Given the description of an element on the screen output the (x, y) to click on. 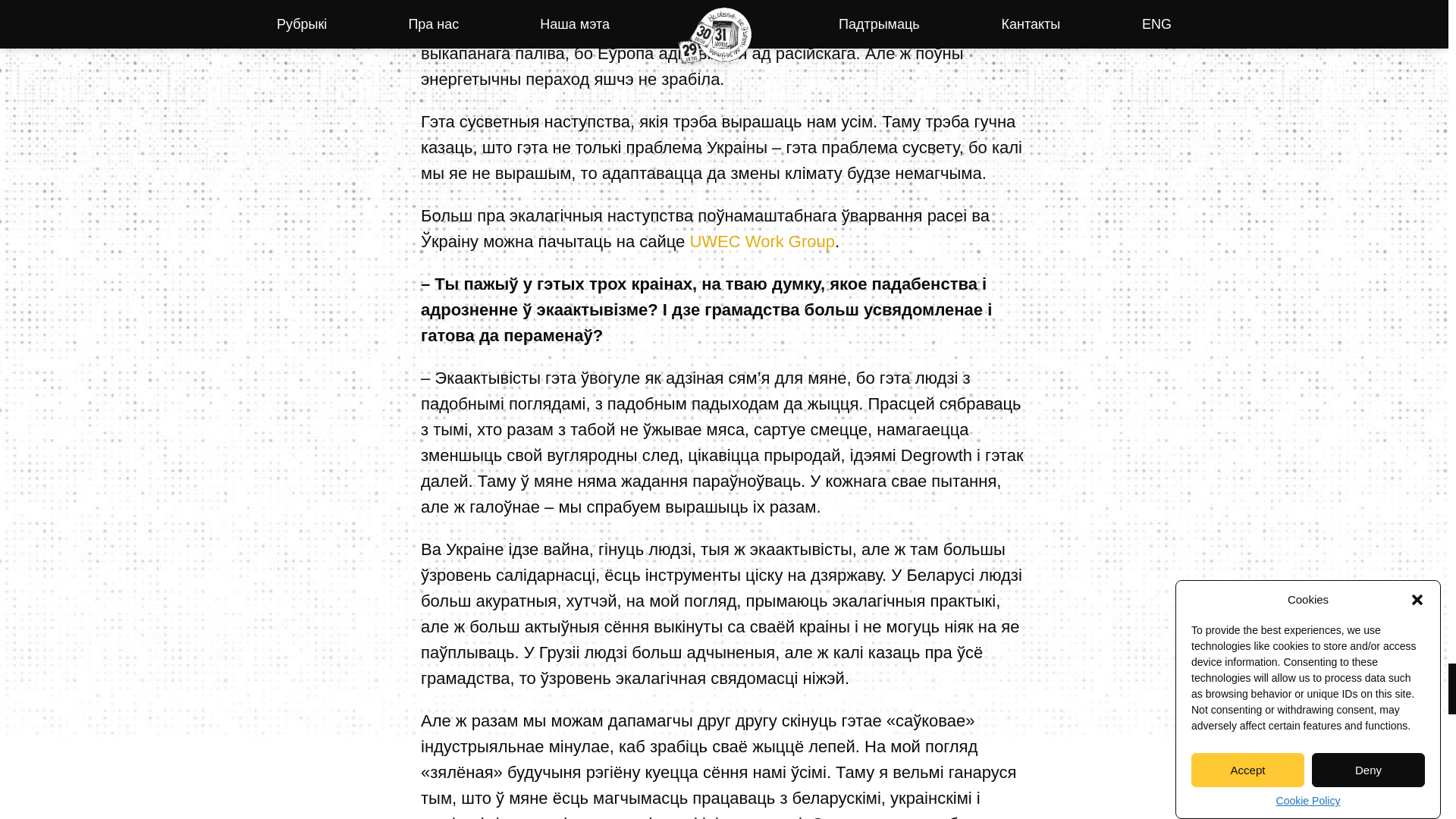
UWEC Work Group (761, 240)
